Given the description of an element on the screen output the (x, y) to click on. 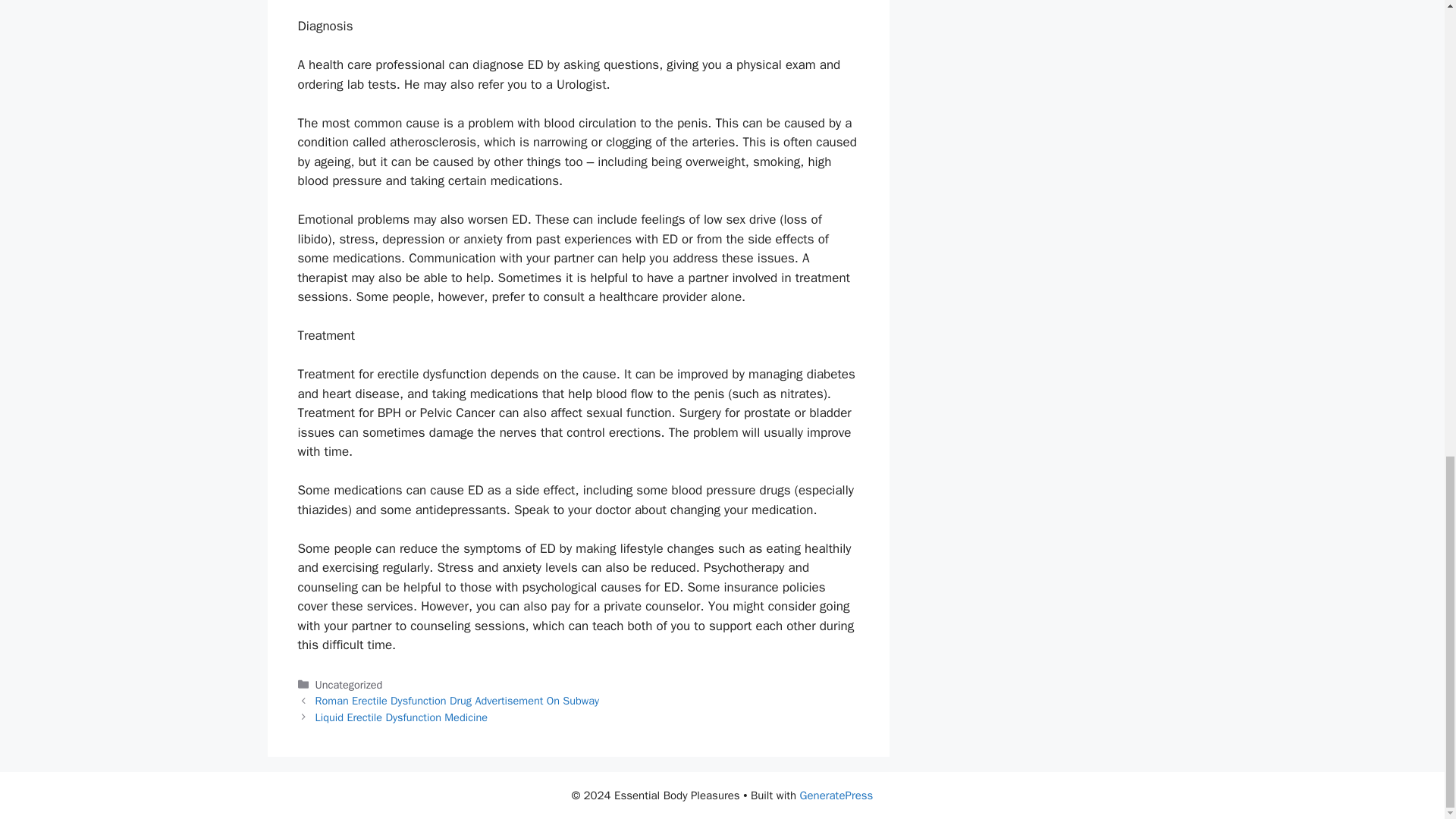
Liquid Erectile Dysfunction Medicine (401, 716)
Roman Erectile Dysfunction Drug Advertisement On Subway (457, 700)
GeneratePress (836, 795)
